Given the description of an element on the screen output the (x, y) to click on. 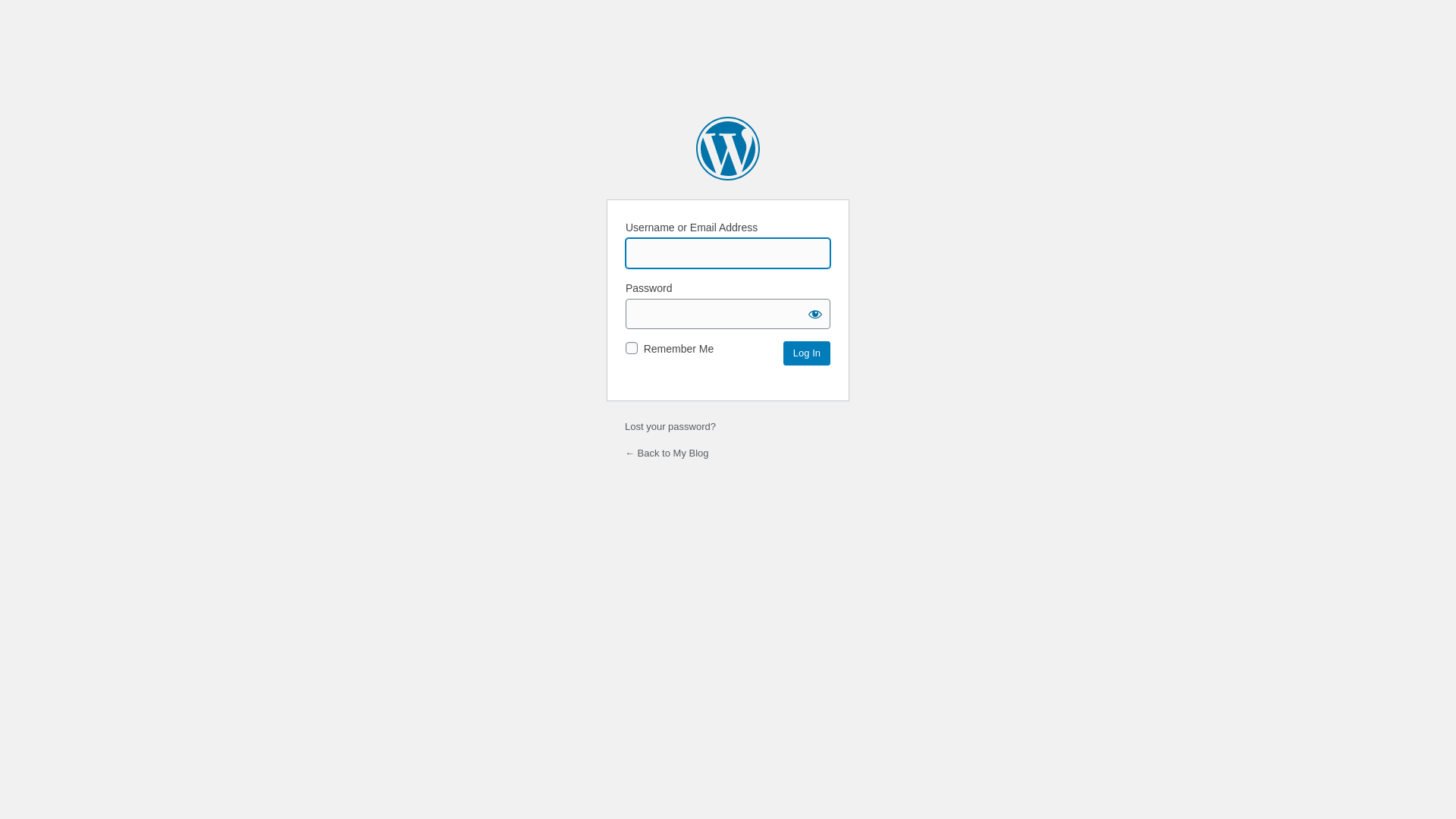
Lost your password? Element type: text (669, 426)
Log In Element type: text (806, 353)
Powered by WordPress Element type: text (727, 148)
